Given the description of an element on the screen output the (x, y) to click on. 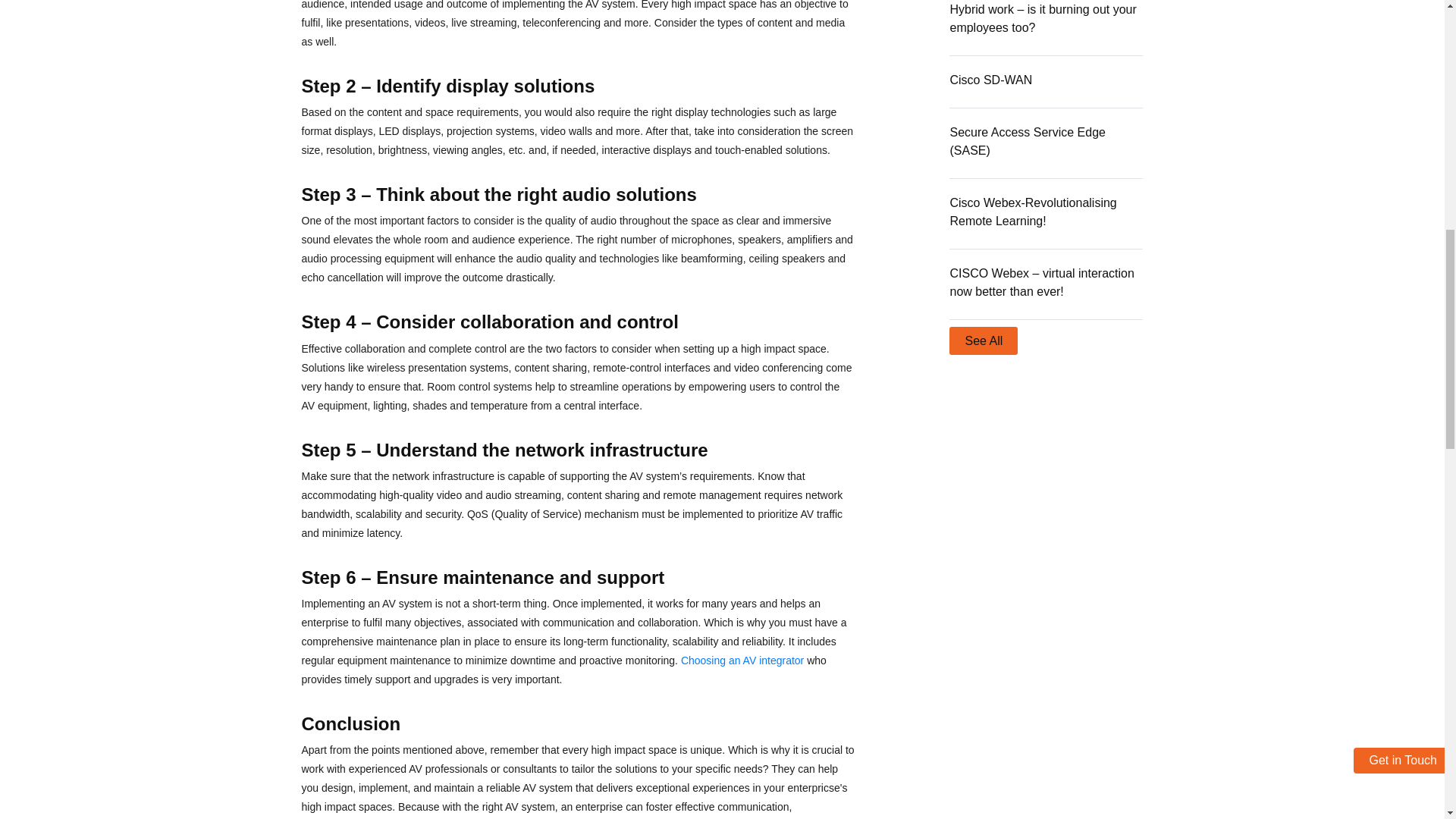
Cisco Webex-Revolutionalising Remote Learning! (1032, 211)
Cisco SD-WAN (990, 79)
Choosing an AV integrator (742, 660)
